Given the description of an element on the screen output the (x, y) to click on. 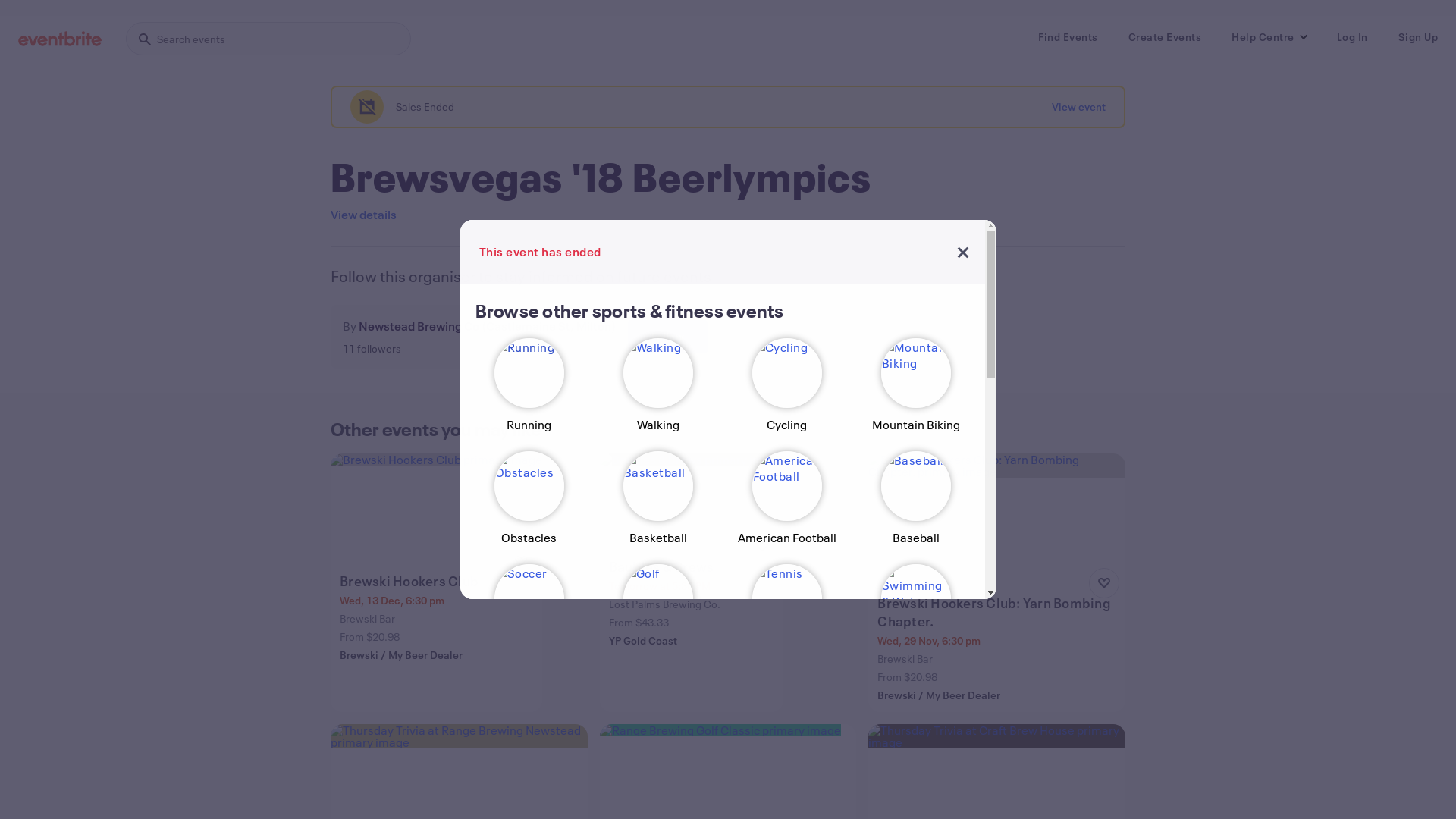
Fighting & Martial Arts Element type: text (785, 748)
View details Element type: text (363, 214)
Follow Element type: text (667, 336)
Cycling Element type: text (785, 391)
Search events Element type: text (268, 38)
Find Events Element type: text (1068, 36)
Sign Up Element type: text (1418, 36)
Log In Element type: text (1351, 36)
American Football Element type: text (785, 504)
Eventbrite Element type: hover (59, 38)
Brewski Hookers Club: Yarn Bombing Chapter. Element type: text (998, 611)
Baubles & Brews Element type: text (692, 566)
Swimming & Water Sports Element type: text (914, 626)
Tennis Element type: text (785, 626)
Brewski Hookers Club Element type: text (437, 580)
Mountain Biking Element type: text (914, 391)
Golf Element type: text (657, 626)
Basketball Element type: text (657, 504)
Walking Element type: text (657, 391)
Running Element type: text (528, 391)
Soccer Element type: text (528, 626)
Snow Sports Element type: text (914, 748)
Hockey Element type: text (528, 748)
Baseball Element type: text (914, 504)
View event Element type: text (1078, 106)
Motorsports Element type: text (657, 748)
Create Events Element type: text (1165, 36)
Obstacles Element type: text (528, 504)
